Given the description of an element on the screen output the (x, y) to click on. 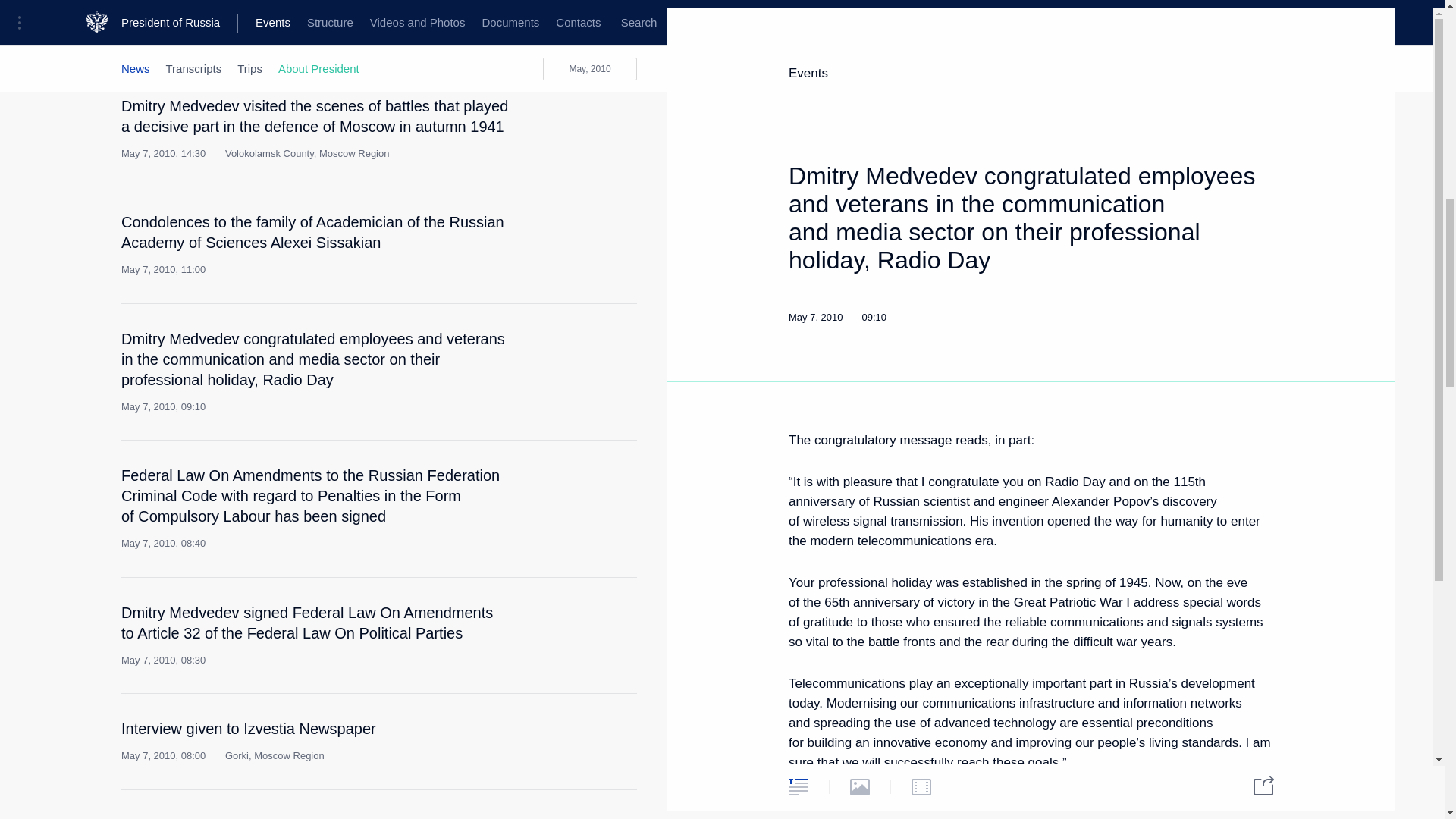
Text of the article (549, 481)
Text of the article (549, 734)
Text of the article (549, 618)
Text of the article (549, 344)
Text of the article (549, 228)
Text of the article (549, 112)
